Given the description of an element on the screen output the (x, y) to click on. 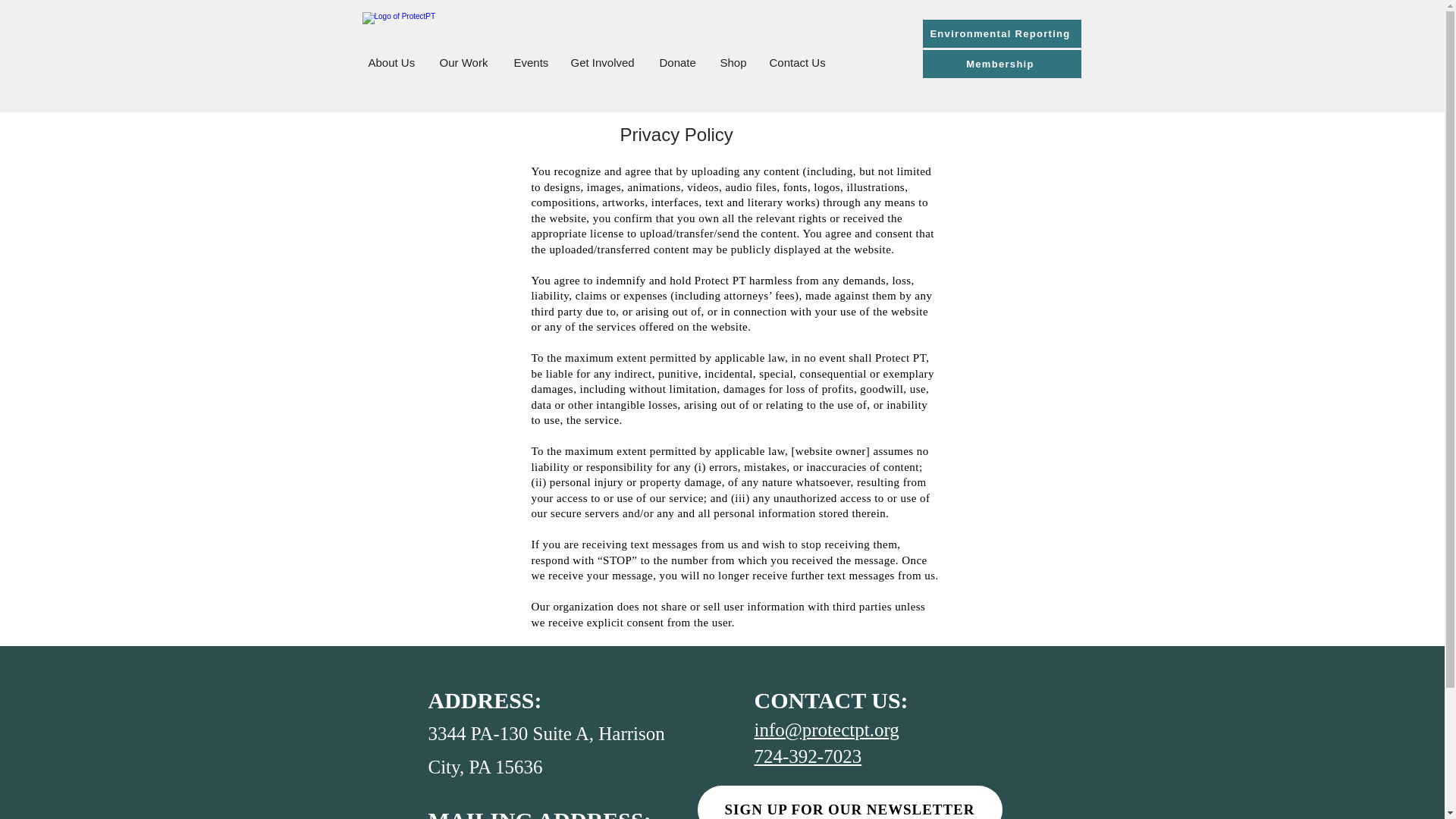
Events (530, 61)
Logo Protect PT big.webp (445, 32)
Get Involved (603, 61)
Contact Us (797, 61)
Membership (1000, 63)
Environmental Reporting (1000, 33)
Donate (677, 61)
Our Work (465, 61)
Shop (732, 61)
About Us (392, 61)
